Given the description of an element on the screen output the (x, y) to click on. 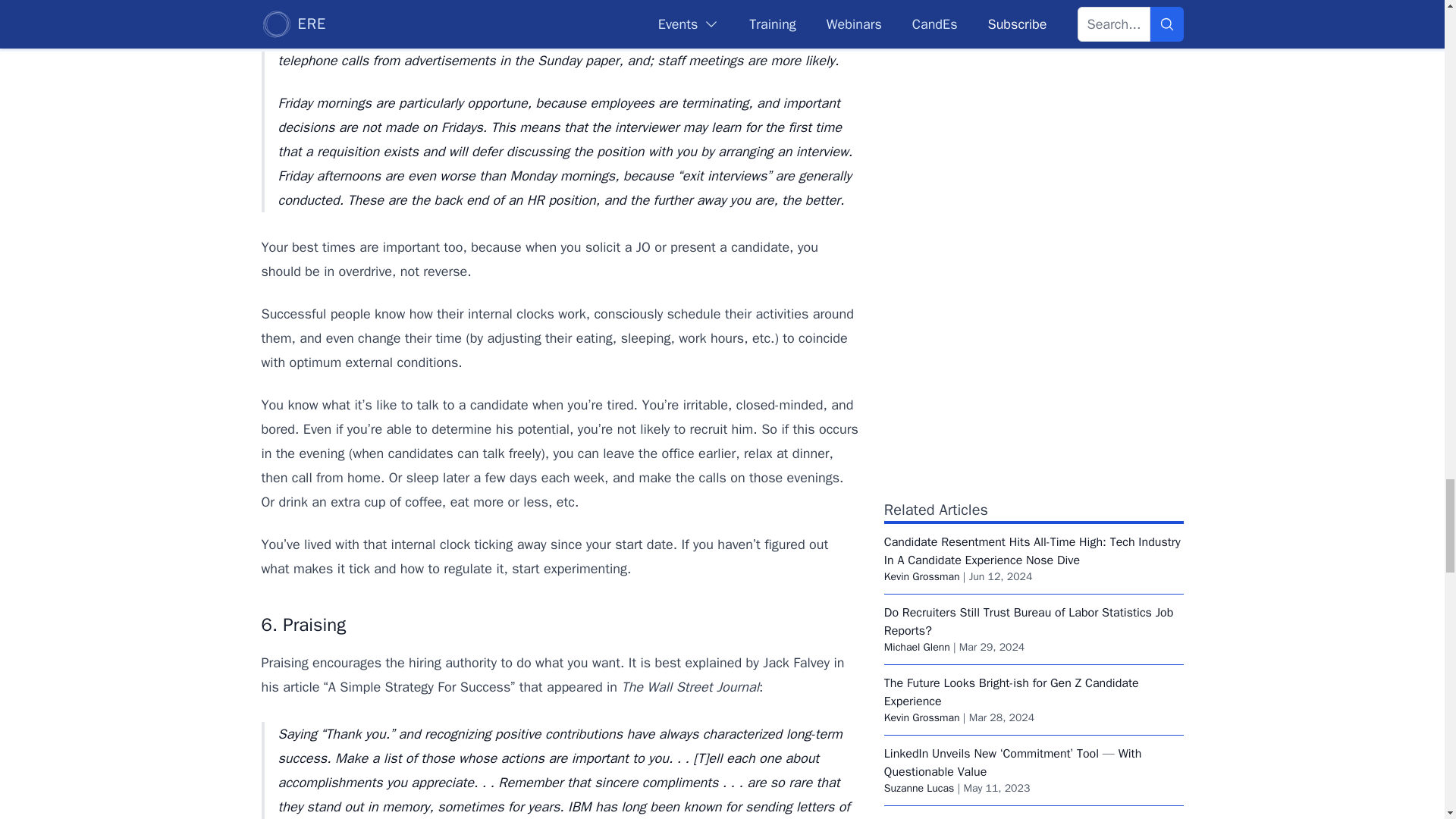
Kevin Grossman (921, 717)
The Future Looks Bright-ish for Gen Z Candidate Experience (1010, 692)
Kevin Grossman (921, 576)
Michael Glenn (916, 646)
Suzanne Lucas (919, 788)
